Given the description of an element on the screen output the (x, y) to click on. 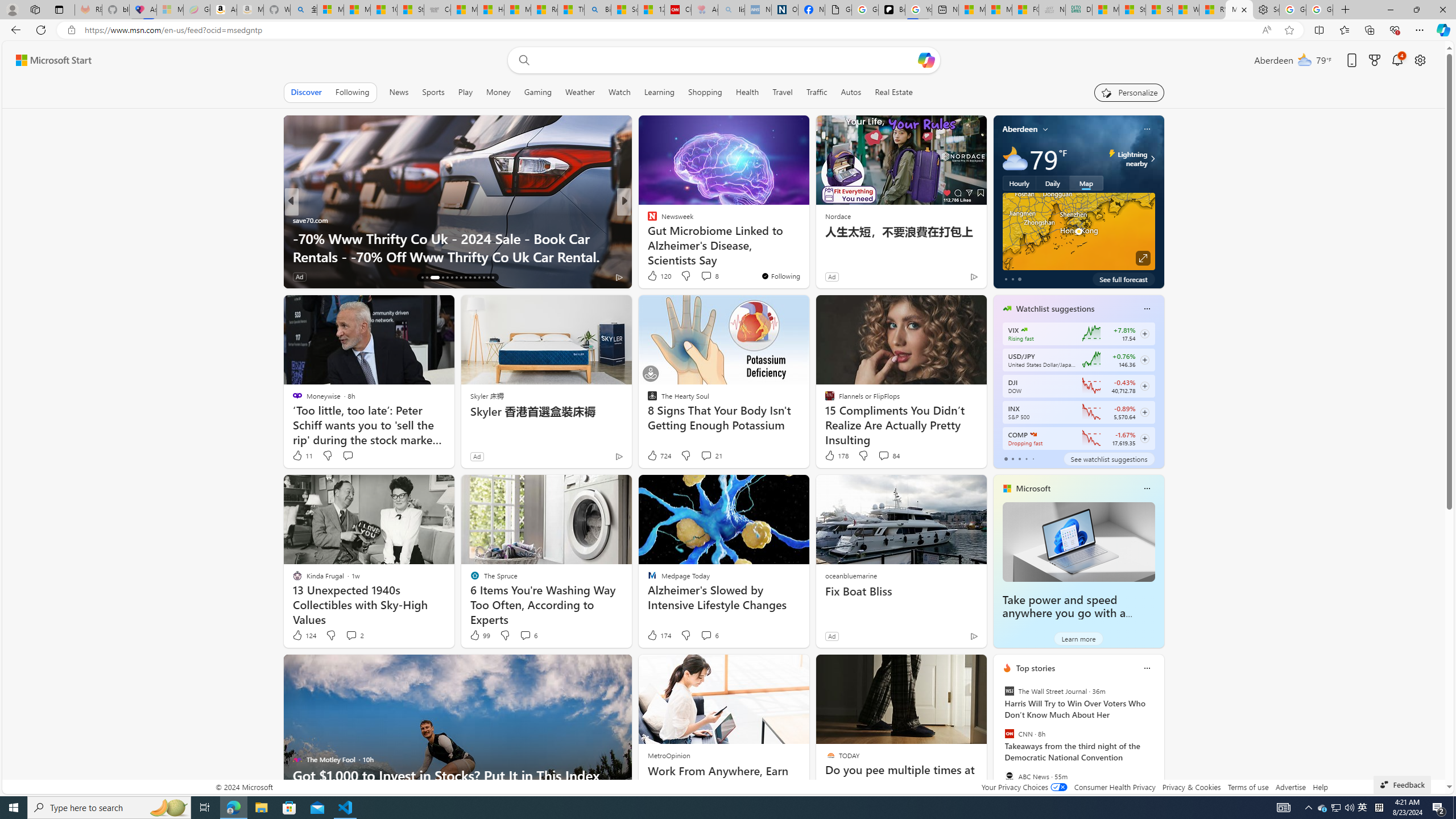
Learn more (1078, 638)
Autos (850, 92)
724 Like (658, 455)
Health (746, 92)
Take power and speed anywhere you go with a Windows laptop. (1063, 613)
Watchlist suggestions (1055, 308)
AutomationID: tab-24 (465, 277)
View comments 203 Comment (709, 276)
Fix Boat Bliss (900, 591)
tab-1 (1012, 458)
View comments 15 Comment (703, 276)
